Given the description of an element on the screen output the (x, y) to click on. 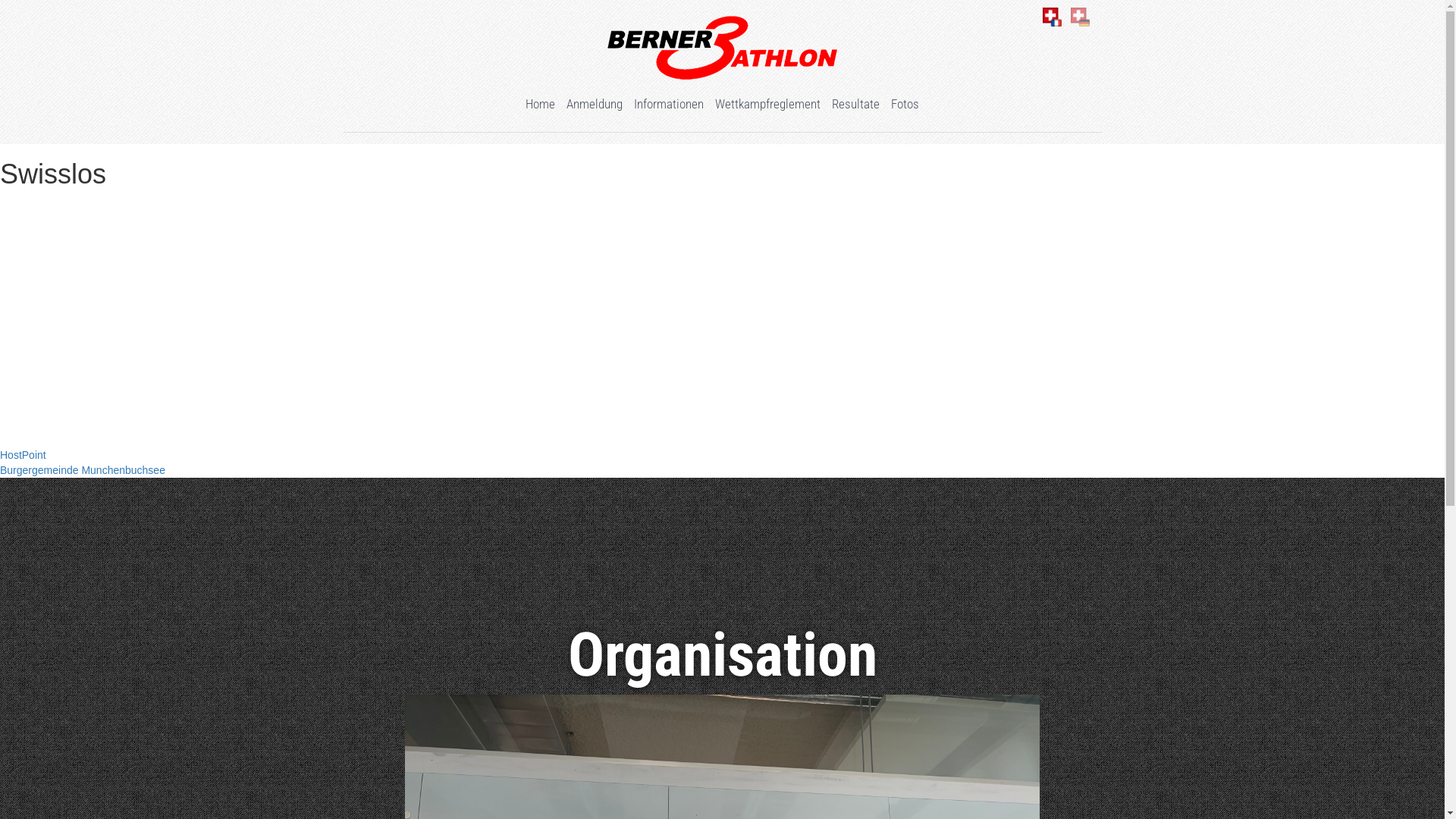
Resultate Element type: text (855, 103)
Burgergemeinde Munchenbuchsee Element type: text (82, 470)
Informationen Element type: text (668, 103)
HostPoint Element type: text (23, 454)
Anmeldung Element type: text (594, 103)
Home Element type: text (540, 103)
Wettkampfreglement Element type: text (767, 103)
Deutsch Element type: hover (1079, 16)
Fotos Element type: text (905, 103)
